Given the description of an element on the screen output the (x, y) to click on. 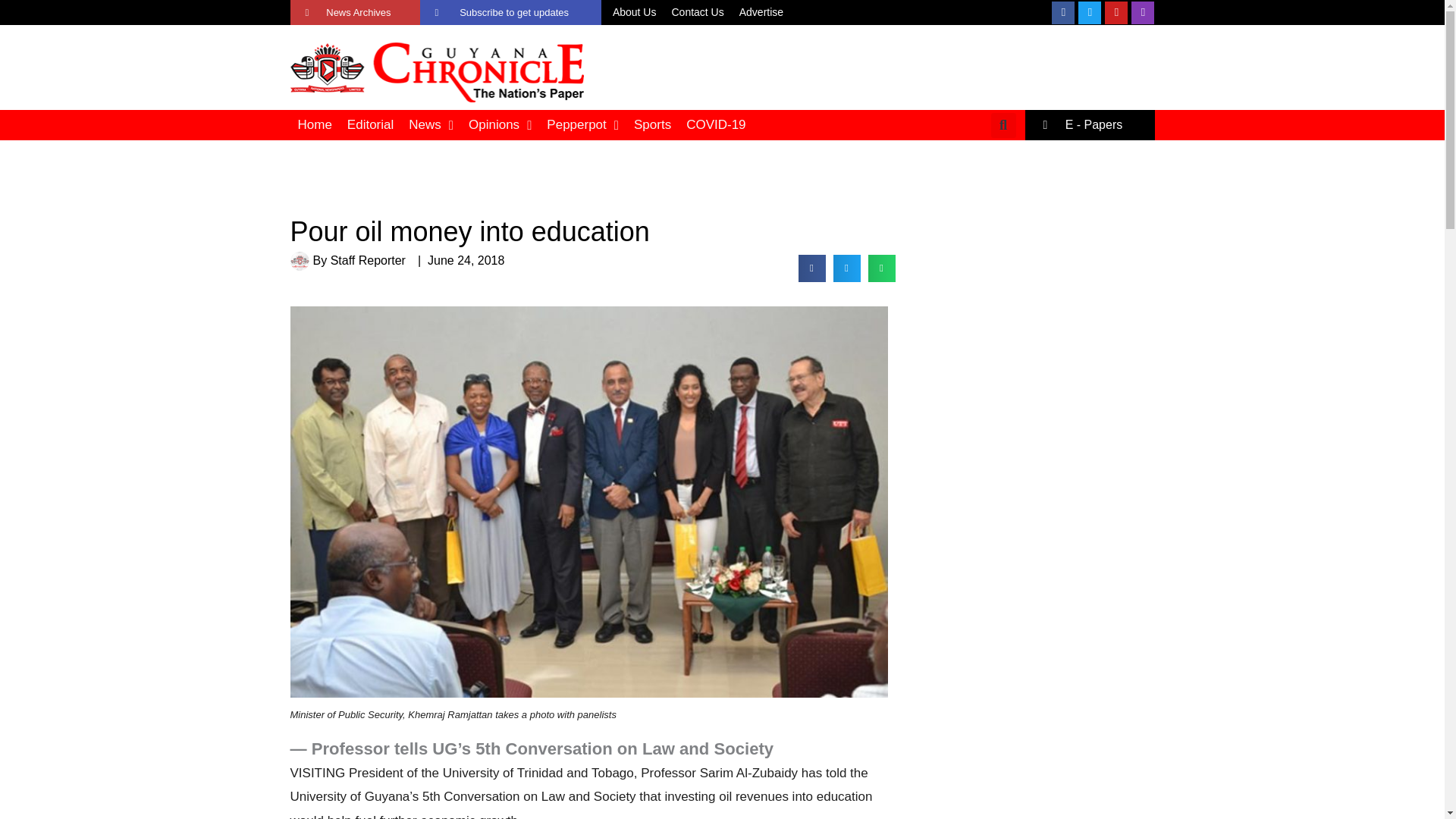
Youtube (1115, 12)
logo-388 (436, 67)
Contact Us (696, 13)
Advertise (761, 13)
Pepperpot (582, 124)
About Us (634, 13)
Facebook (1062, 12)
Editorial (370, 124)
News Archives (354, 12)
